Given the description of an element on the screen output the (x, y) to click on. 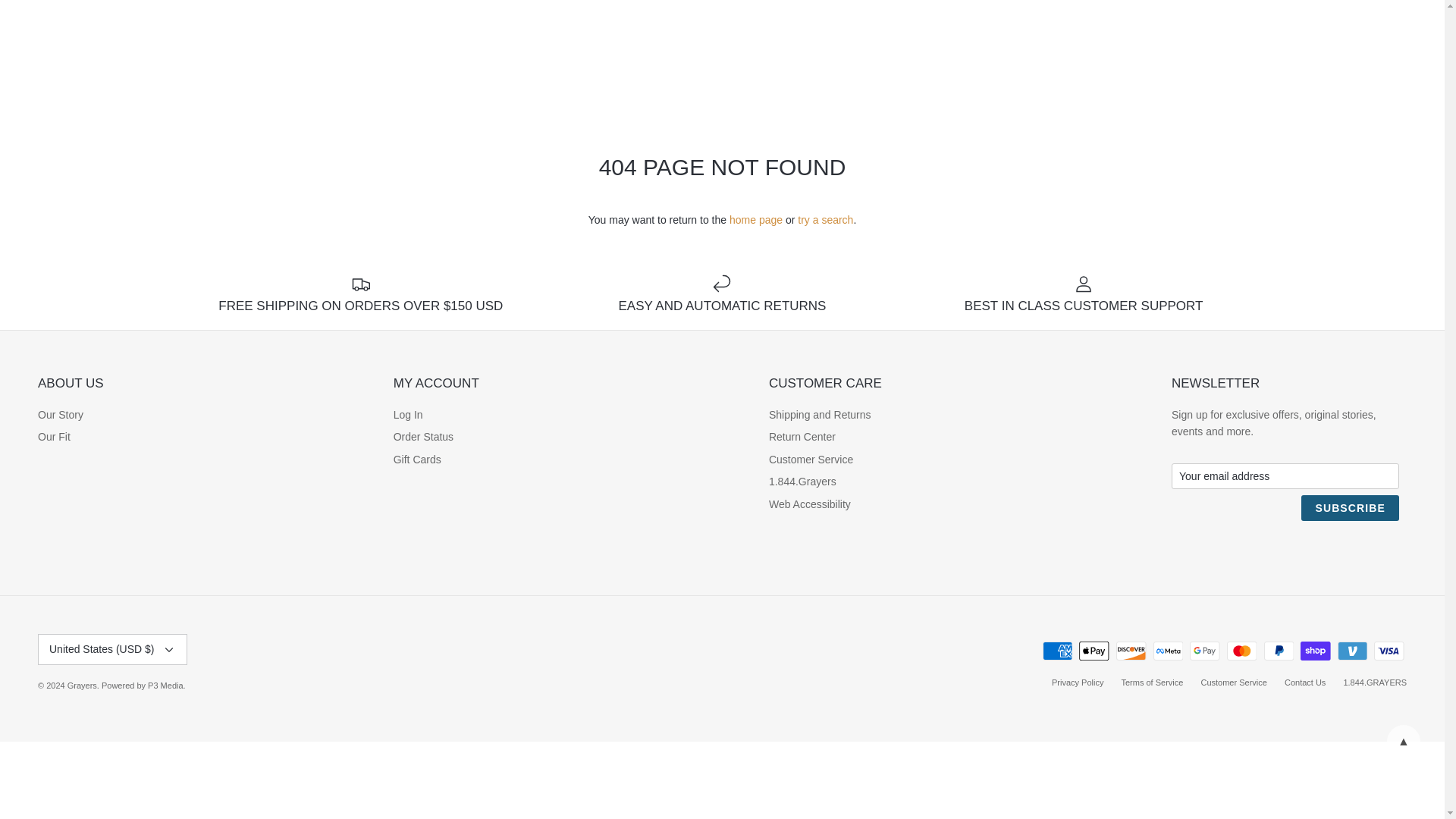
American Express (1057, 650)
Google Pay (1204, 650)
Discover (1130, 650)
PayPal (1277, 650)
Venmo (1352, 650)
Visa (1388, 650)
Down (168, 649)
Apple Pay (1093, 650)
Shop Pay (1315, 650)
Mastercard (1241, 650)
